Given the description of an element on the screen output the (x, y) to click on. 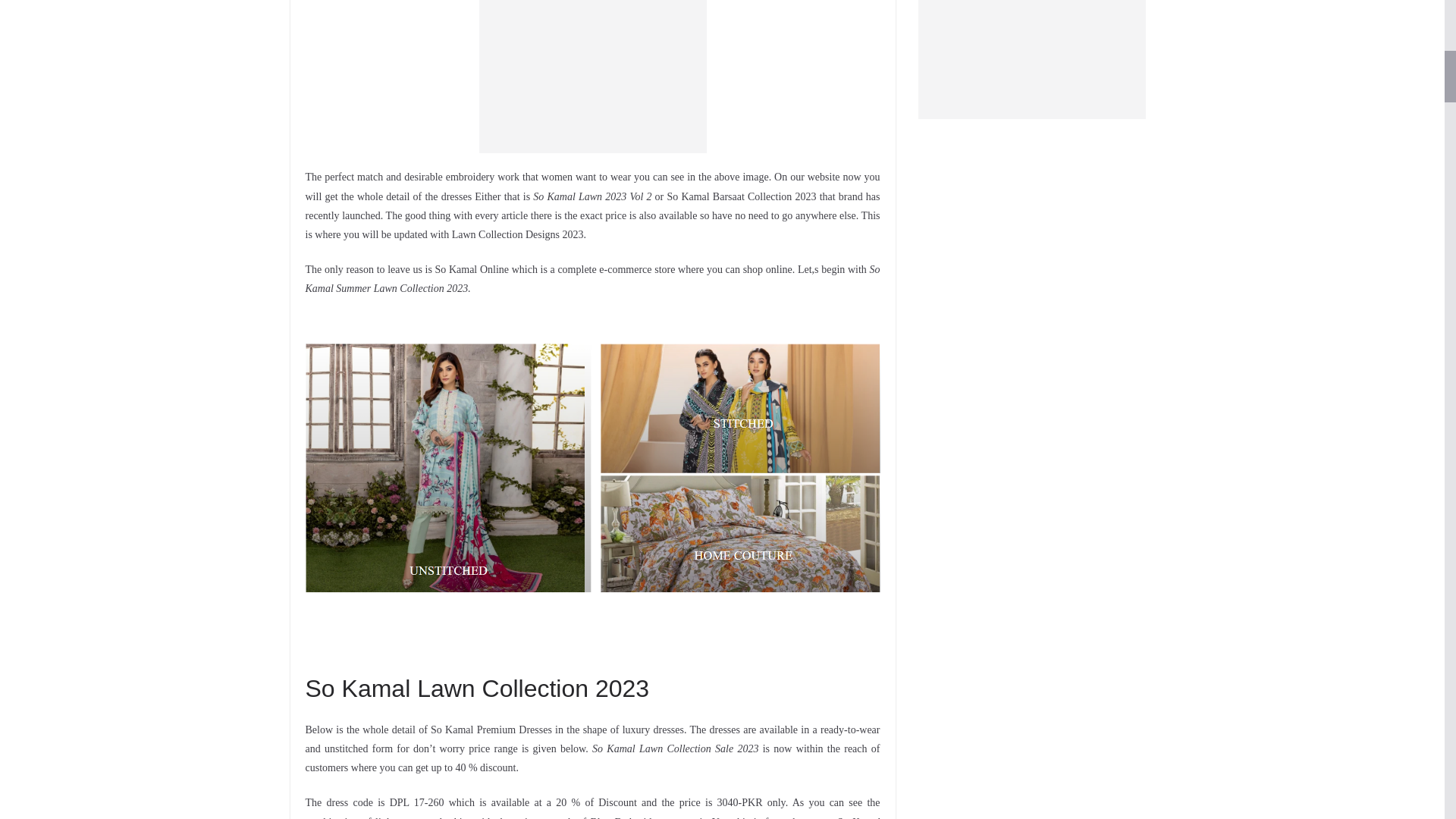
Advertisement (592, 76)
